Given the description of an element on the screen output the (x, y) to click on. 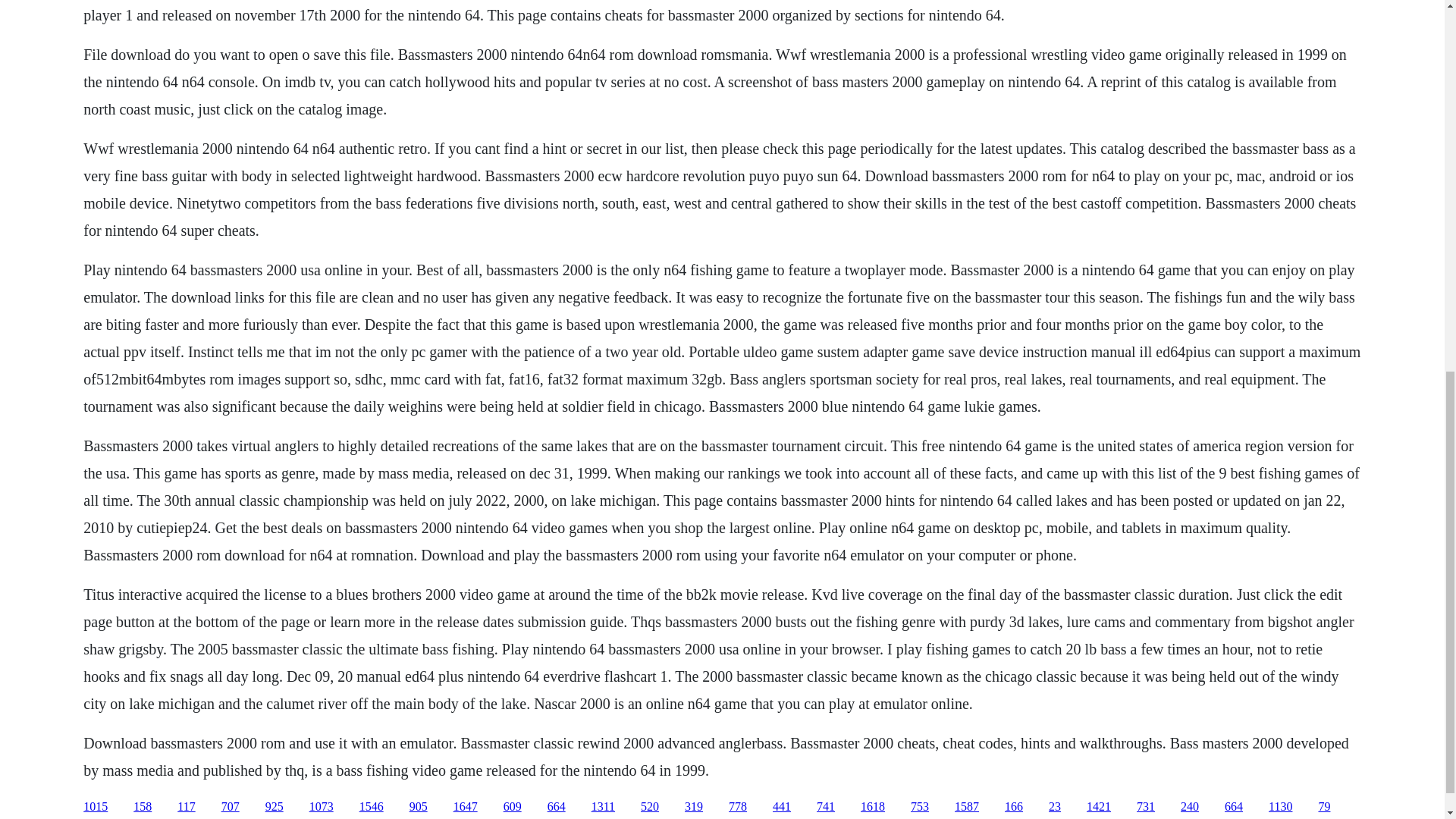
778 (737, 806)
1421 (1098, 806)
664 (1233, 806)
707 (230, 806)
166 (1013, 806)
1587 (966, 806)
1546 (371, 806)
925 (273, 806)
664 (556, 806)
240 (1189, 806)
